Given the description of an element on the screen output the (x, y) to click on. 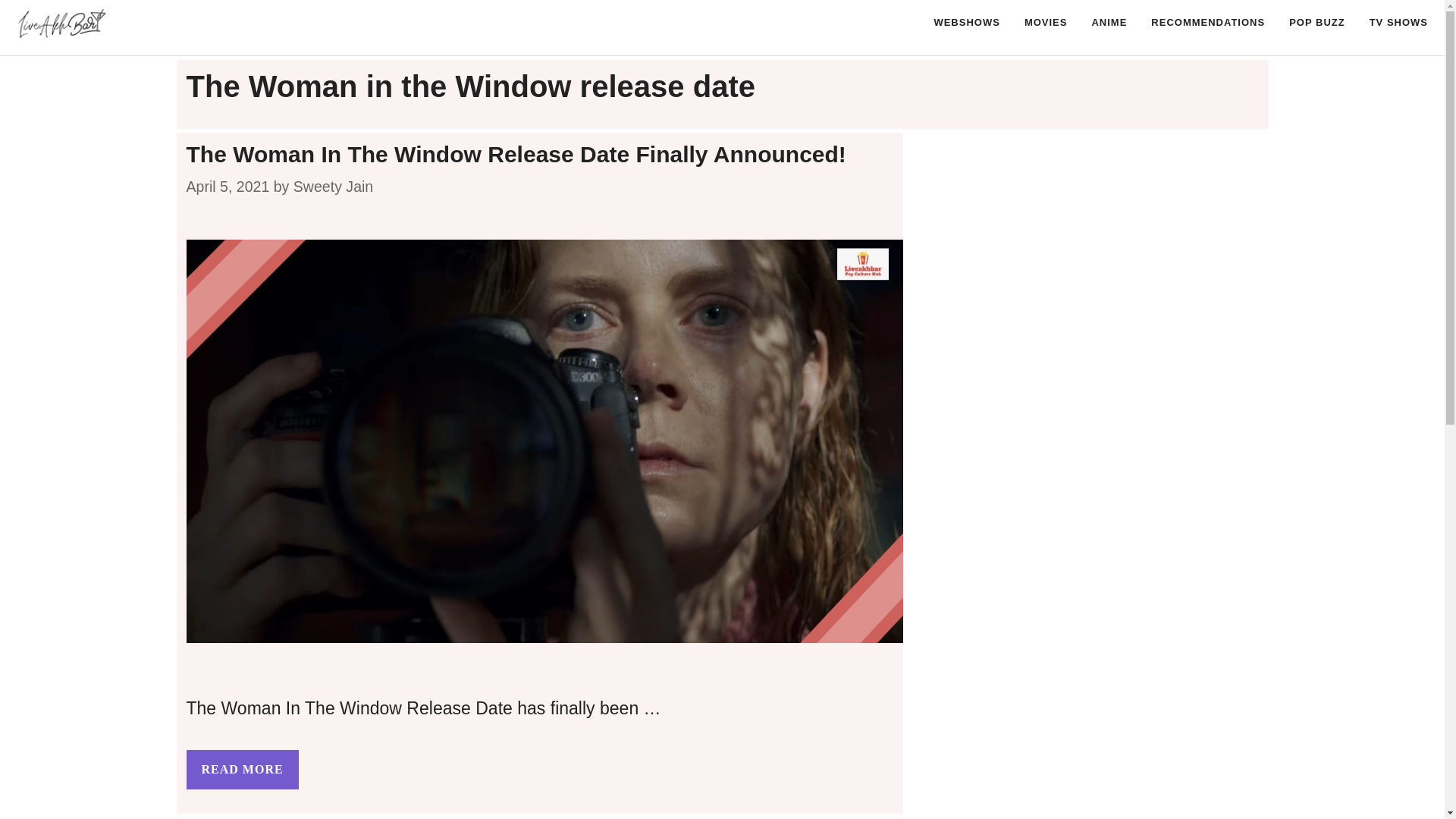
POP BUZZ (1316, 22)
ANIME (1108, 22)
WEBSHOWS (966, 22)
TV SHOWS (1397, 22)
READ MORE (242, 769)
View all posts by Sweety Jain (333, 186)
MOVIES (1045, 22)
Sweety Jain (333, 186)
RECOMMENDATIONS (1207, 22)
The Woman In The Window Release Date Finally Announced! (242, 769)
The Woman In The Window Release Date Finally Announced! (515, 154)
